Given the description of an element on the screen output the (x, y) to click on. 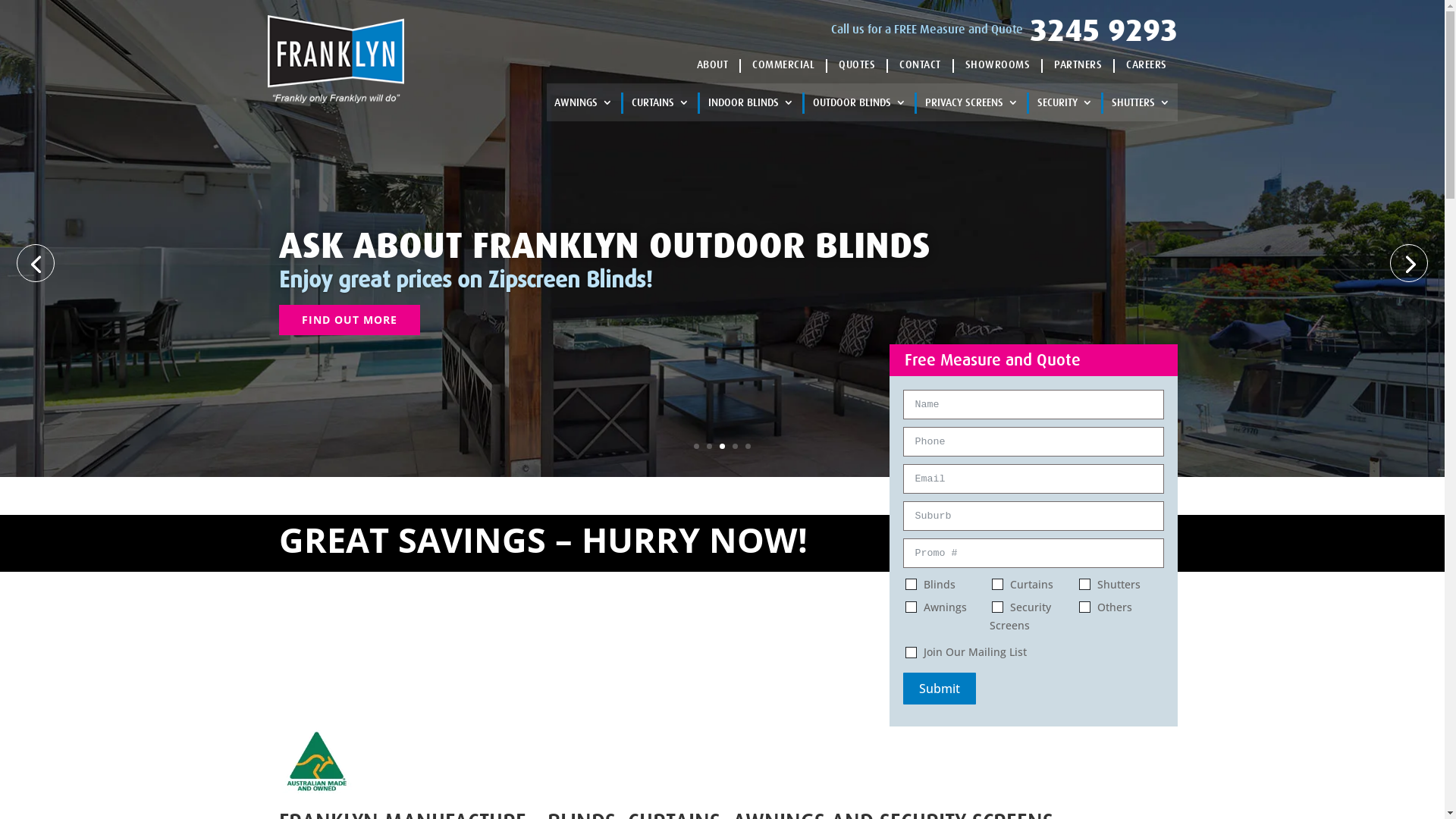
3245 9293 Element type: text (1103, 29)
CAREERS Element type: text (1146, 64)
SECURITY Element type: text (1064, 105)
PRIVACY SCREENS Element type: text (971, 105)
QUOTES Element type: text (856, 64)
4 Element type: text (734, 445)
PARTNERS Element type: text (1077, 64)
SHUTTERS Element type: text (1140, 105)
FIND OUT MORE Element type: text (349, 319)
Submit Element type: text (938, 688)
OUTDOOR BLINDS Element type: text (859, 105)
Franklyn_Logo Element type: hover (334, 59)
INDOOR BLINDS Element type: text (750, 105)
CONTACT Element type: text (920, 64)
COMMERCIAL Element type: text (783, 64)
5 Element type: text (747, 445)
CURTAINS Element type: text (659, 105)
SHOWROOMS Element type: text (996, 64)
AWNINGS Element type: text (582, 105)
GREAT PRICES ON FOLDING ARM AWNINGS! Element type: text (621, 245)
1 Element type: text (696, 445)
3 Element type: text (721, 445)
ABOUT Element type: text (712, 64)
2 Element type: text (709, 445)
